Given the description of an element on the screen output the (x, y) to click on. 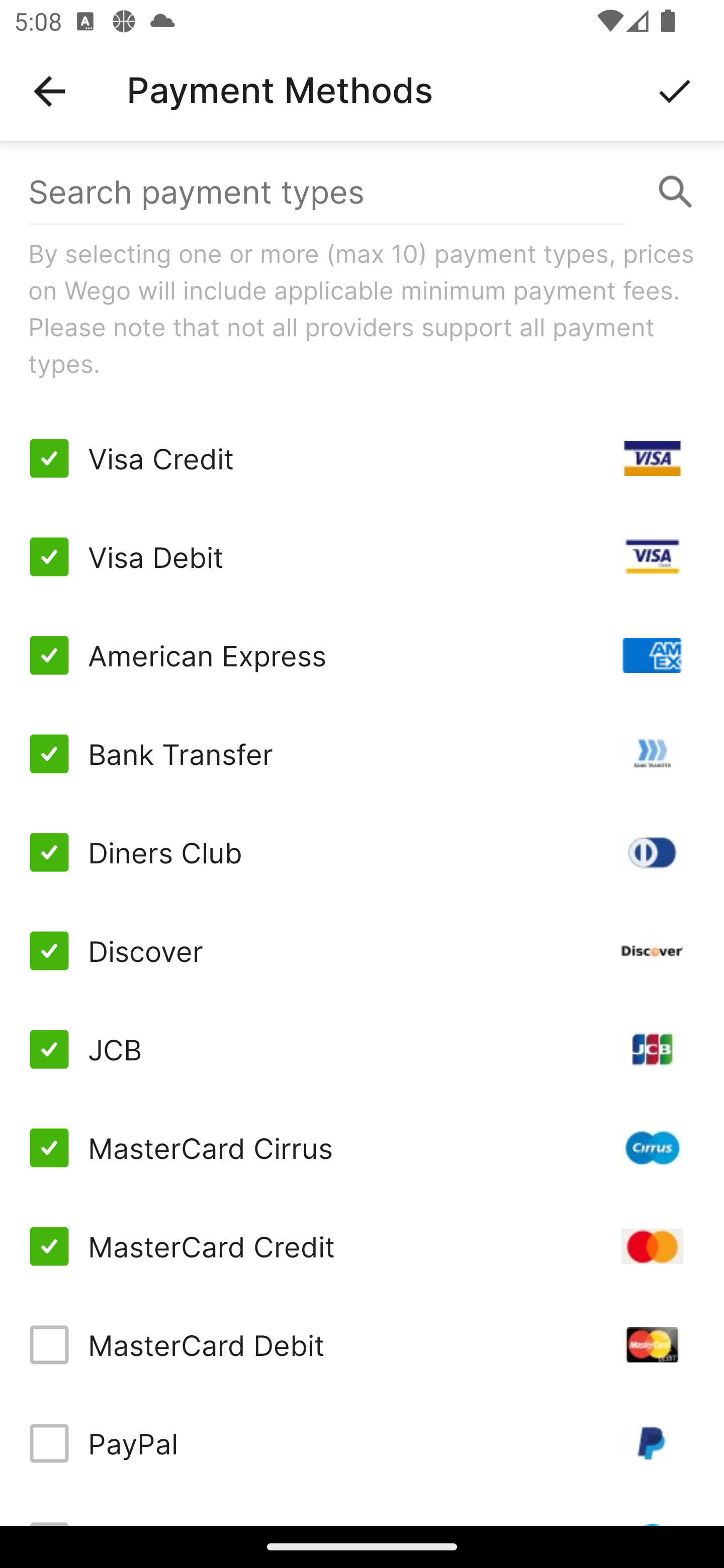
Search payment types  (361, 191)
Visa Credit (362, 458)
Visa Debit (362, 557)
American Express (362, 655)
Bank Transfer (362, 753)
Diners Club (362, 851)
Discover (362, 950)
JCB (362, 1049)
MasterCard Cirrus (362, 1147)
MasterCard Credit (362, 1245)
MasterCard Debit (362, 1344)
PayPal (362, 1442)
